Given the description of an element on the screen output the (x, y) to click on. 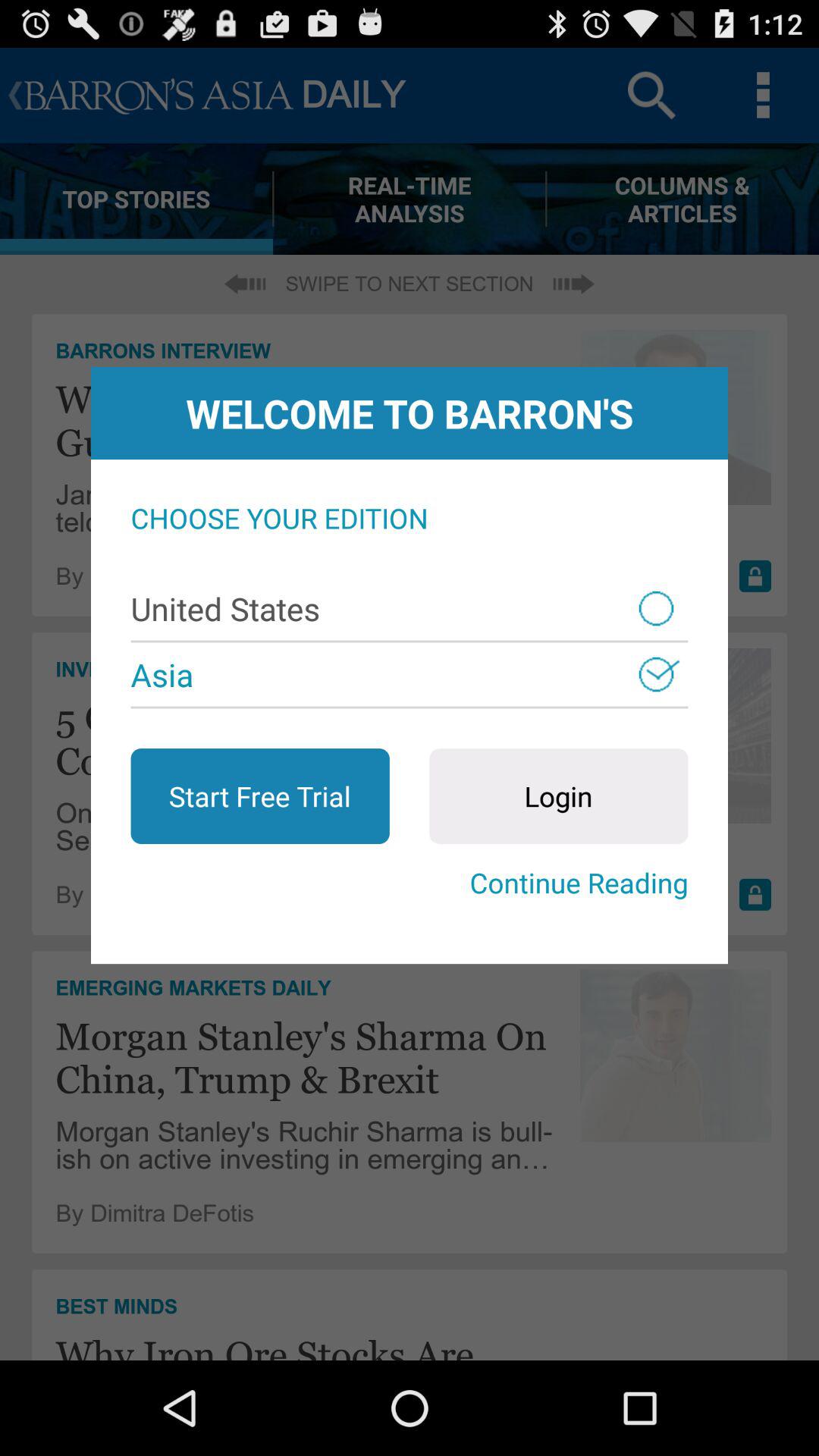
tap the item below start free trial (409, 882)
